Given the description of an element on the screen output the (x, y) to click on. 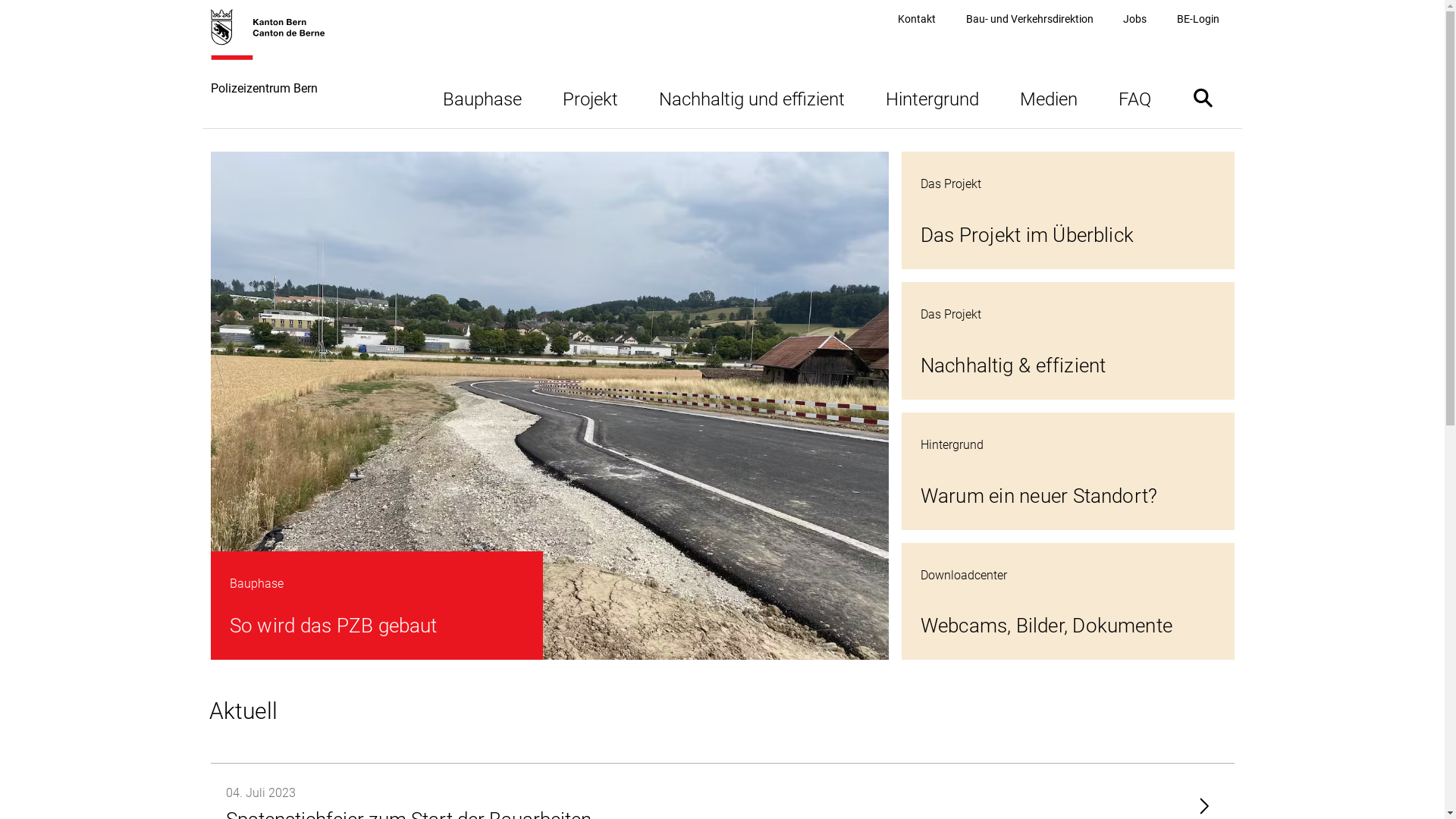
Bau- und Verkehrsdirektion Element type: text (1029, 19)
Kontakt Element type: text (916, 19)
Bauphase Element type: text (481, 96)
Webcams, Bilder, Dokumente
Downloadcenter Element type: text (1067, 601)
Medien Element type: text (1048, 96)
Jobs Element type: text (1134, 19)
Polizeizentrum Bern Element type: text (275, 68)
Projekt Element type: text (589, 96)
Hintergrund Element type: text (931, 96)
So wird das PZB gebaut
Bauphase Element type: text (549, 405)
Suche ein- oder ausblenden Element type: text (1201, 96)
Nachhaltig & effizient
Das Projekt Element type: text (1067, 340)
BE-Login Element type: text (1197, 19)
FAQ Element type: text (1134, 96)
Warum ein neuer Standort?
Hintergrund Element type: text (1067, 471)
Nachhaltig und effizient Element type: text (751, 96)
